Given the description of an element on the screen output the (x, y) to click on. 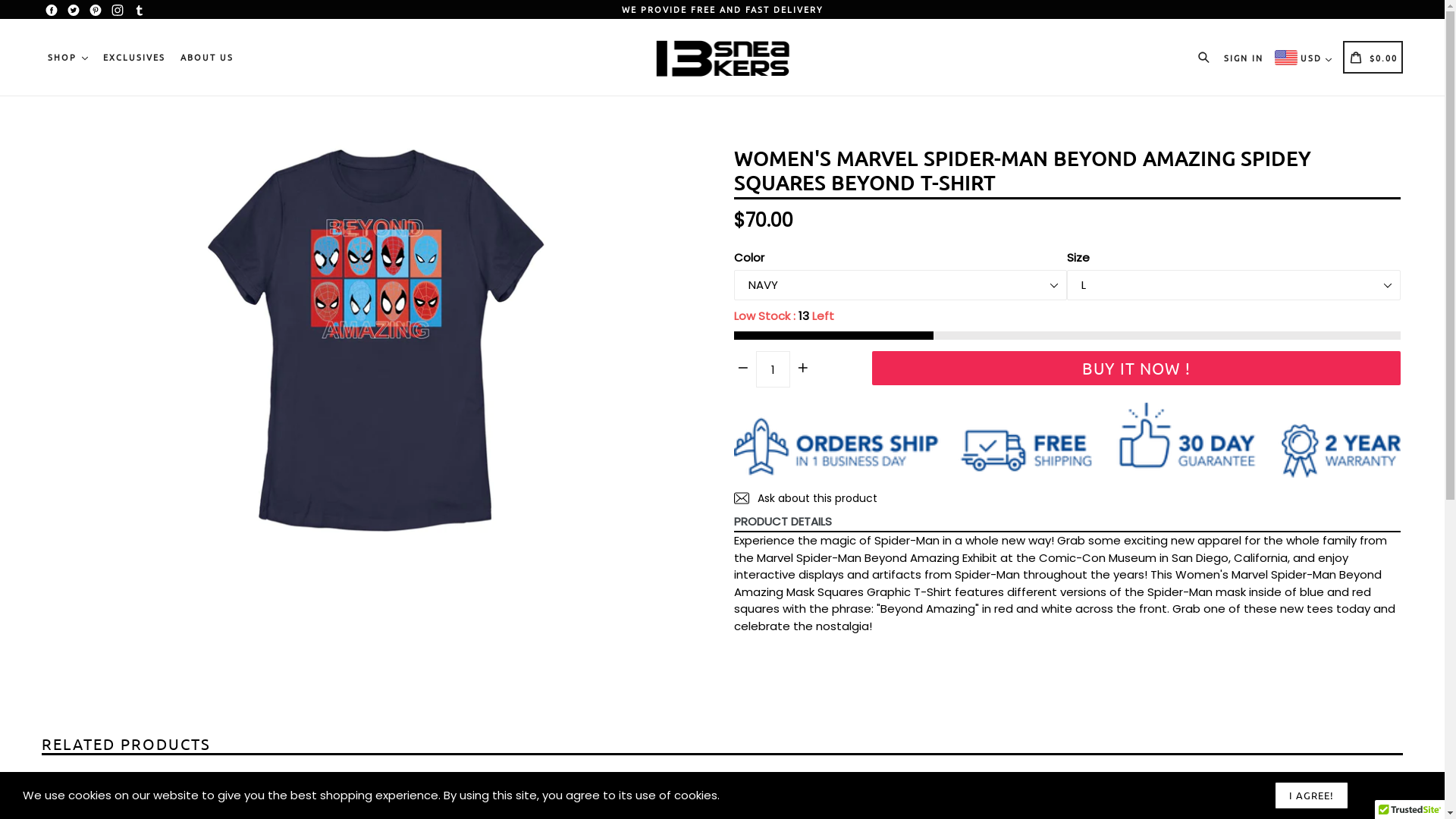
Tumblr Element type: text (139, 9)
EXCLUSIVES Element type: text (134, 57)
Search Element type: text (1206, 56)
CART
CART
$0.00 Element type: text (1372, 56)
SIGN IN Element type: text (1243, 56)
Ask about this product Element type: text (805, 497)
Instagram Element type: text (117, 9)
Pinterest Element type: text (95, 9)
Twitter Element type: text (73, 9)
I AGREE! Element type: text (1311, 795)
PRODUCT DETAILS Element type: text (1063, 522)
ABOUT US Element type: text (206, 57)
Facebook Element type: text (51, 9)
BUY IT NOW ! Element type: text (1136, 368)
